Given the description of an element on the screen output the (x, y) to click on. 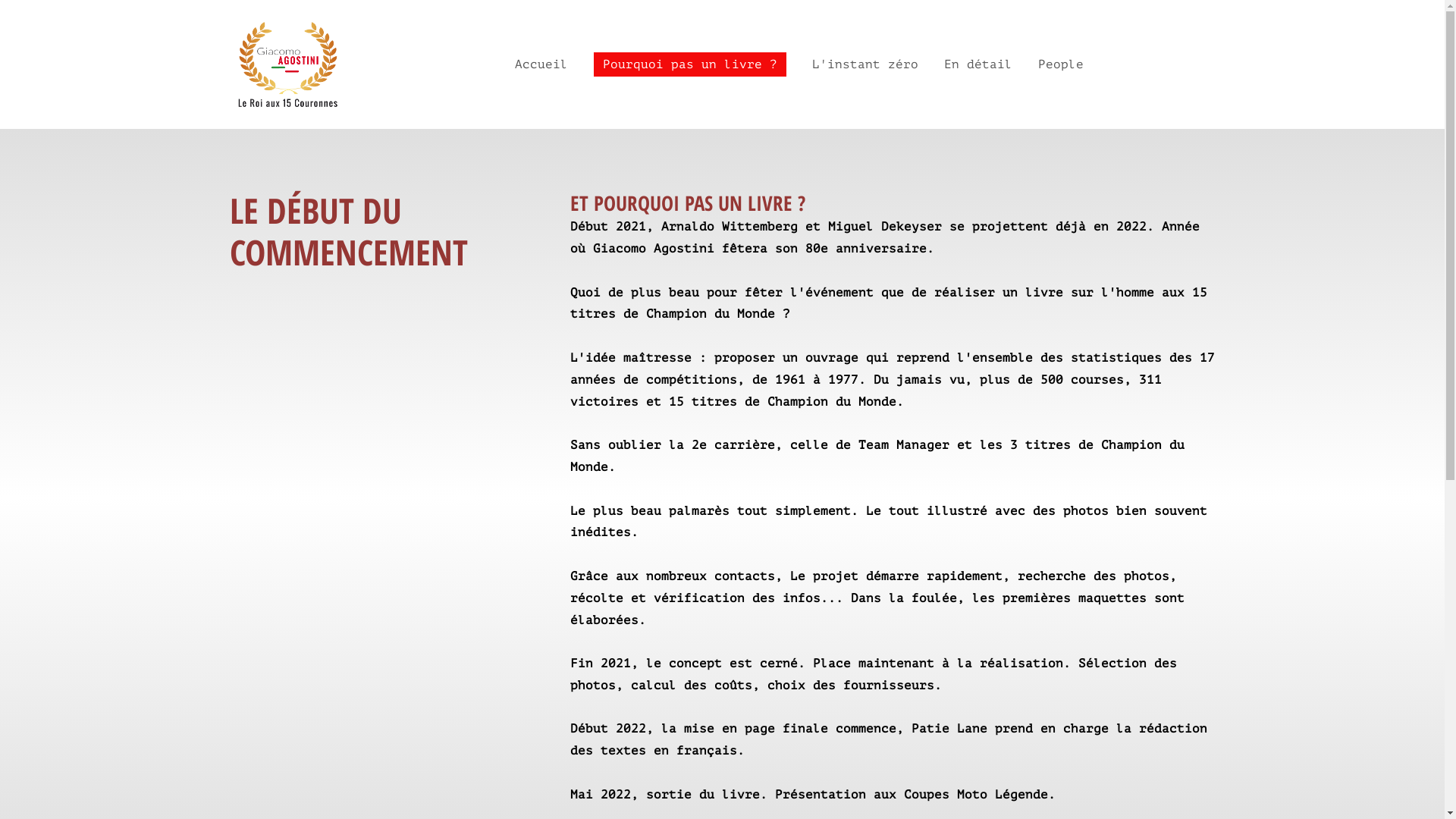
Accueil Element type: text (541, 64)
Pourquoi pas un livre ? Element type: text (689, 64)
People Element type: text (1060, 64)
